Given the description of an element on the screen output the (x, y) to click on. 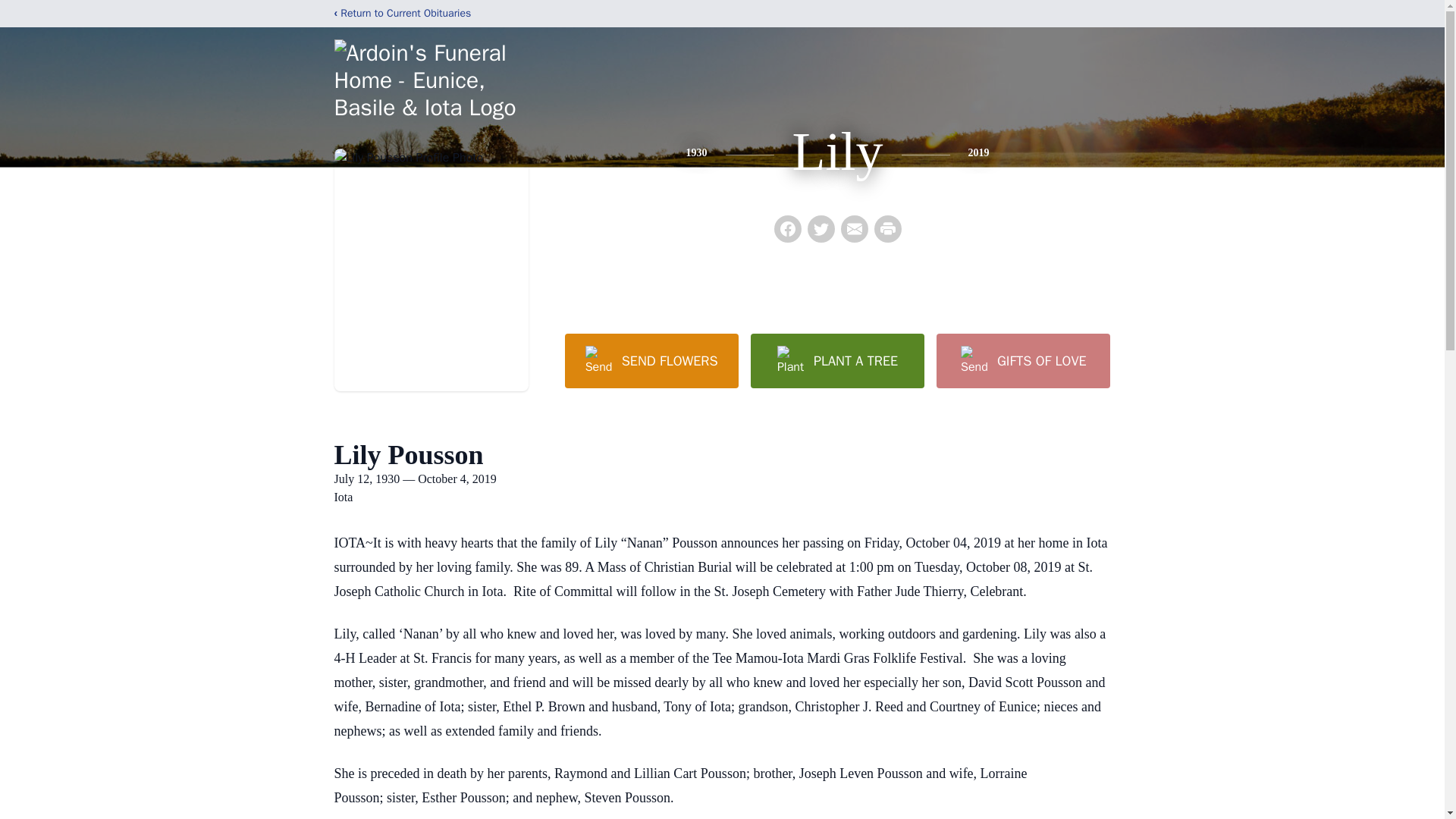
GIFTS OF LOVE (1022, 360)
PLANT A TREE (837, 360)
SEND FLOWERS (651, 360)
